Given the description of an element on the screen output the (x, y) to click on. 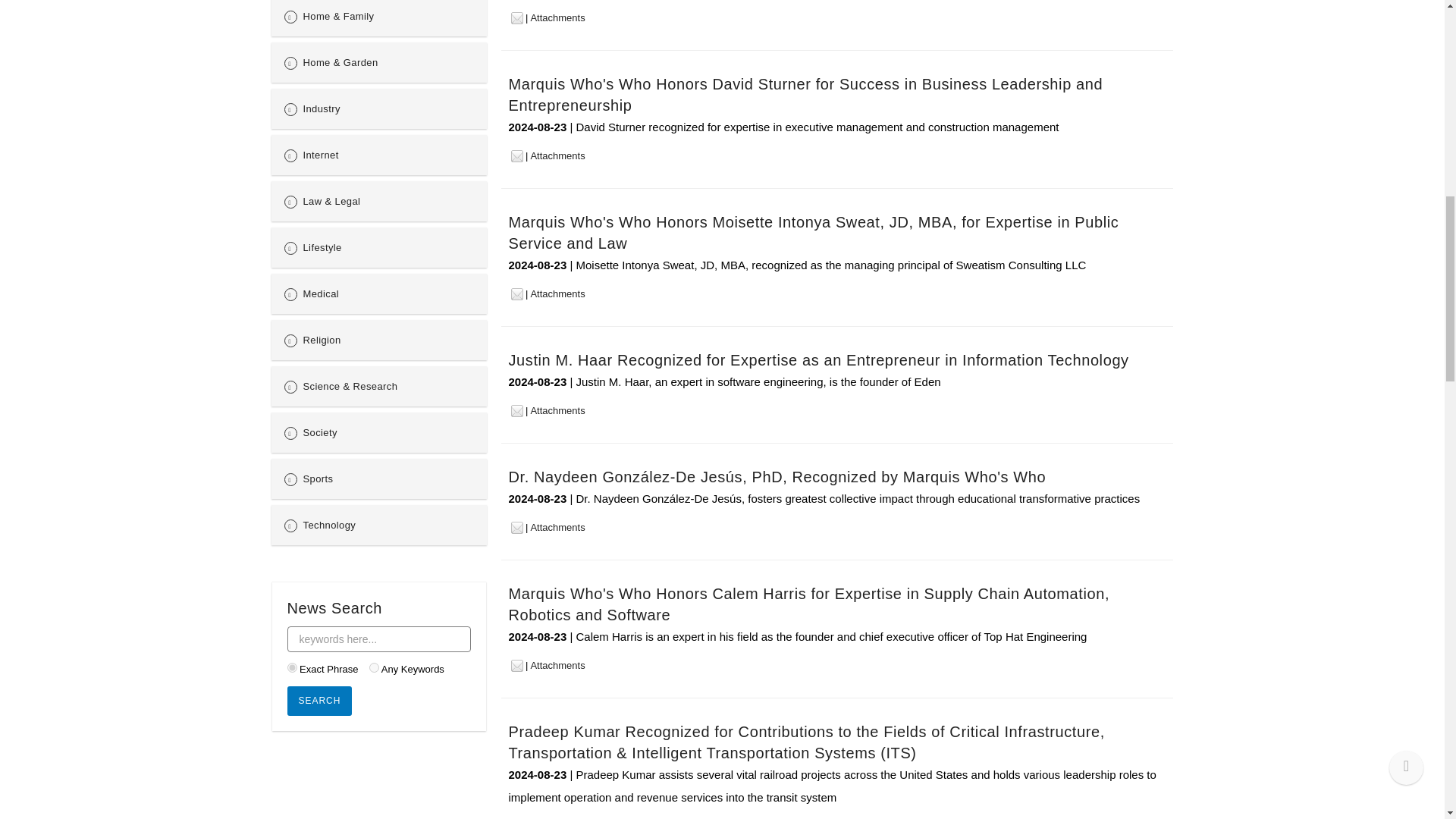
SEARCH (319, 700)
N (373, 667)
E (291, 667)
